Given the description of an element on the screen output the (x, y) to click on. 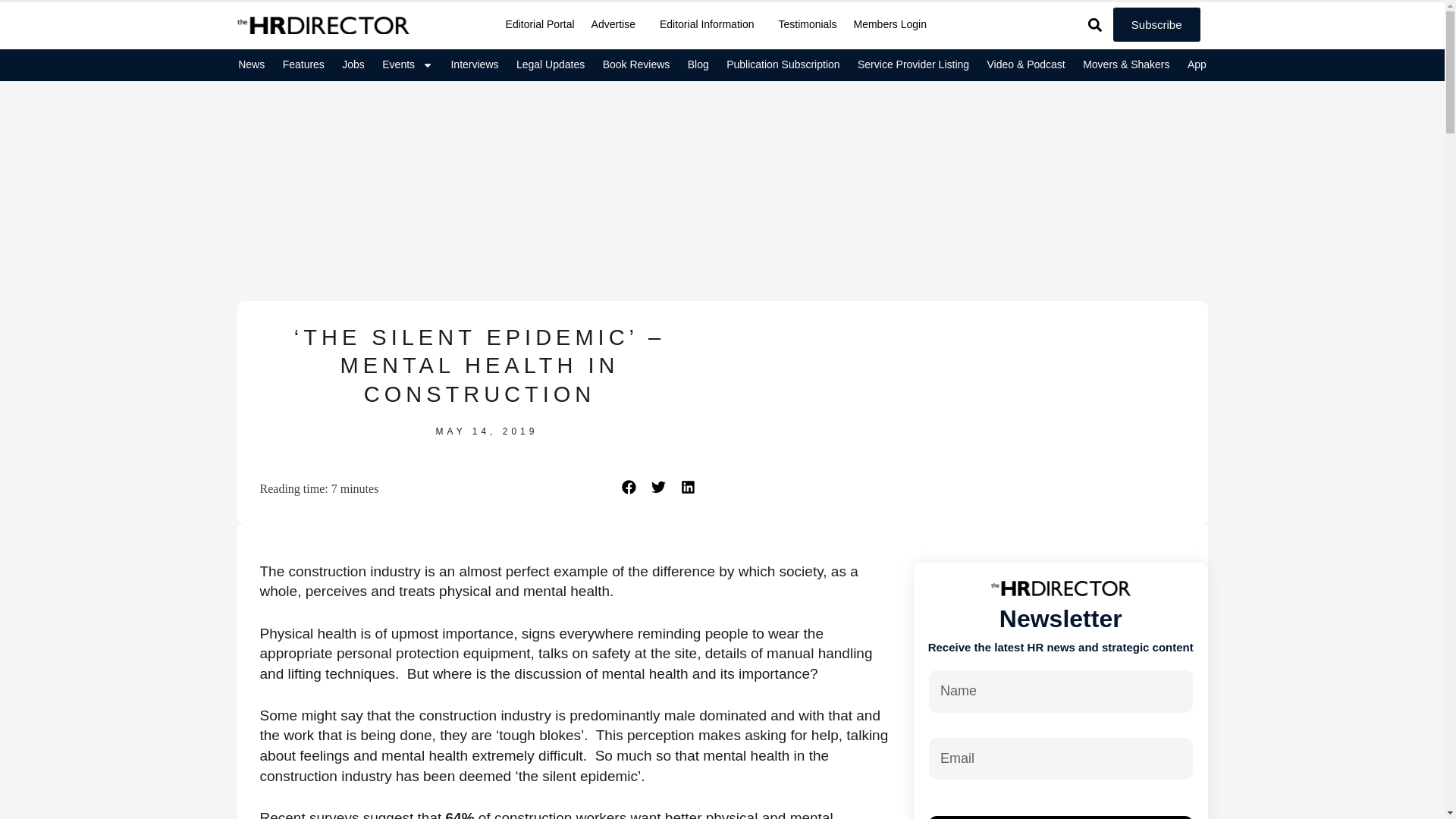
Testimonials (806, 24)
Publication Subscription (783, 64)
Service Provider Listing (912, 64)
Subscribe (1156, 24)
Editorial Portal (540, 24)
Advertise (617, 24)
News (249, 64)
Legal Updates (550, 64)
Events (407, 64)
Editorial Information (710, 24)
Interviews (474, 64)
Members Login (890, 24)
Features (303, 64)
Book Reviews (636, 64)
